Given the description of an element on the screen output the (x, y) to click on. 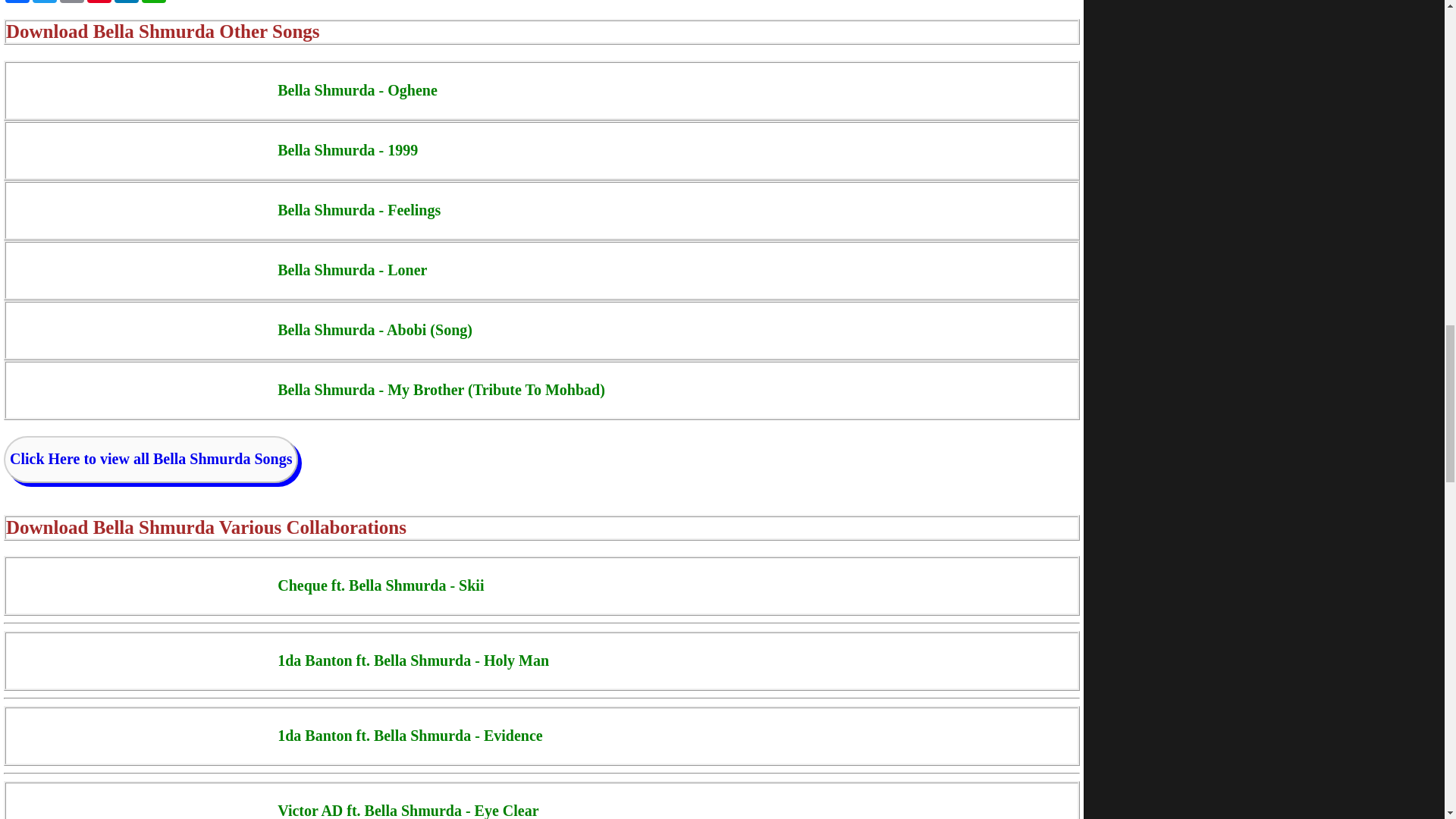
Pinterest (99, 1)
Click Here to view all Bella Shmurda Songs (151, 458)
Facebook (17, 1)
Click Here to view all Bella Shmurda Songs (151, 459)
LinkedIn (126, 1)
Email (71, 1)
WhatsApp (153, 1)
Twitter (44, 1)
